Given the description of an element on the screen output the (x, y) to click on. 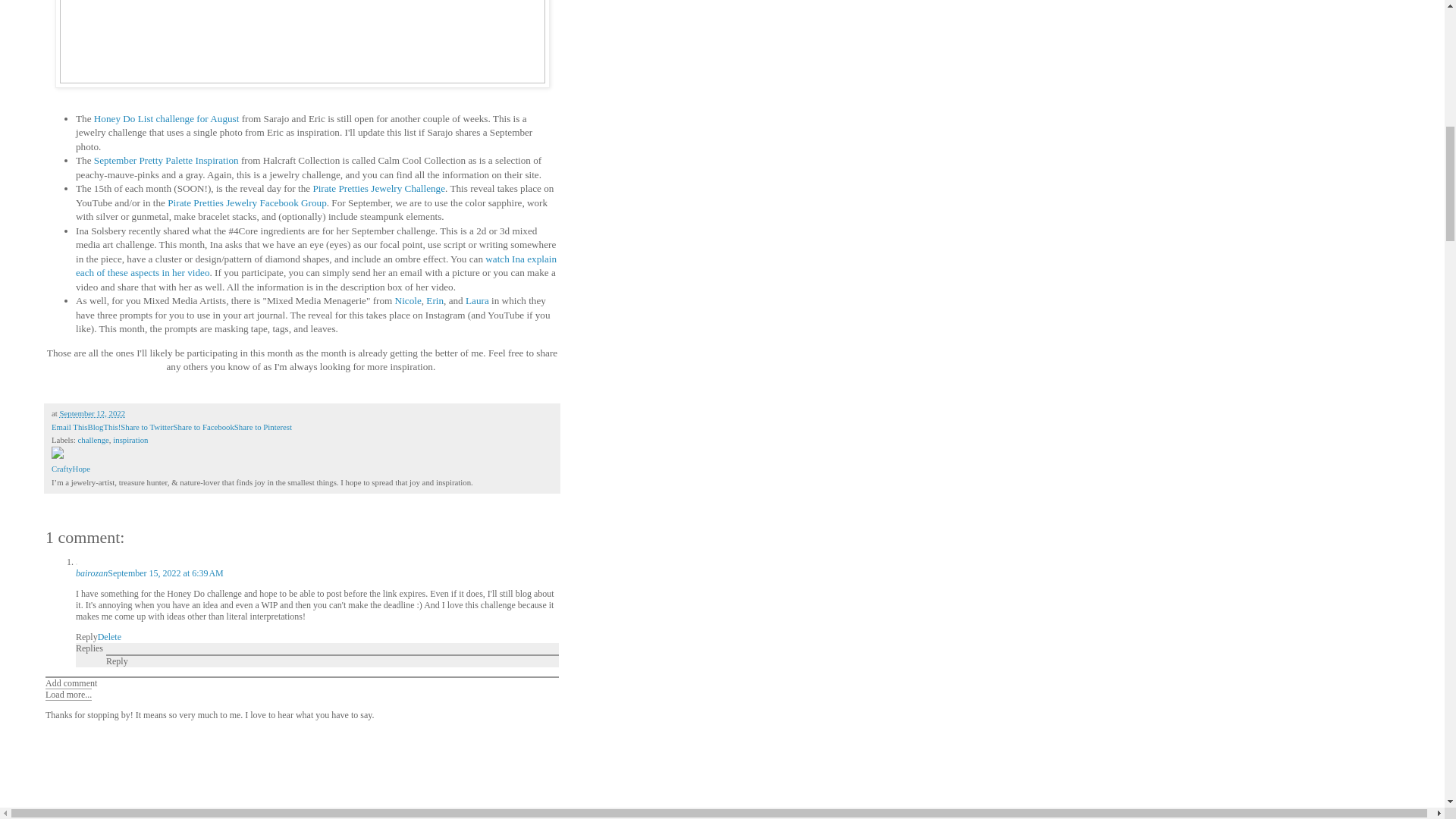
September Pretty Palette Inspiration (166, 160)
Load more... (68, 694)
Delete (108, 636)
BlogThis! (103, 426)
Reply (86, 636)
Honey Do List challenge for August (167, 118)
Add comment (71, 683)
Email This (68, 426)
Share to Pinterest (263, 426)
BlogThis! (103, 426)
Pirate Pretties Jewelry Challenge (379, 188)
watch Ina explain each of these aspects in her video (315, 265)
Reply (117, 661)
inspiration (130, 439)
